Given the description of an element on the screen output the (x, y) to click on. 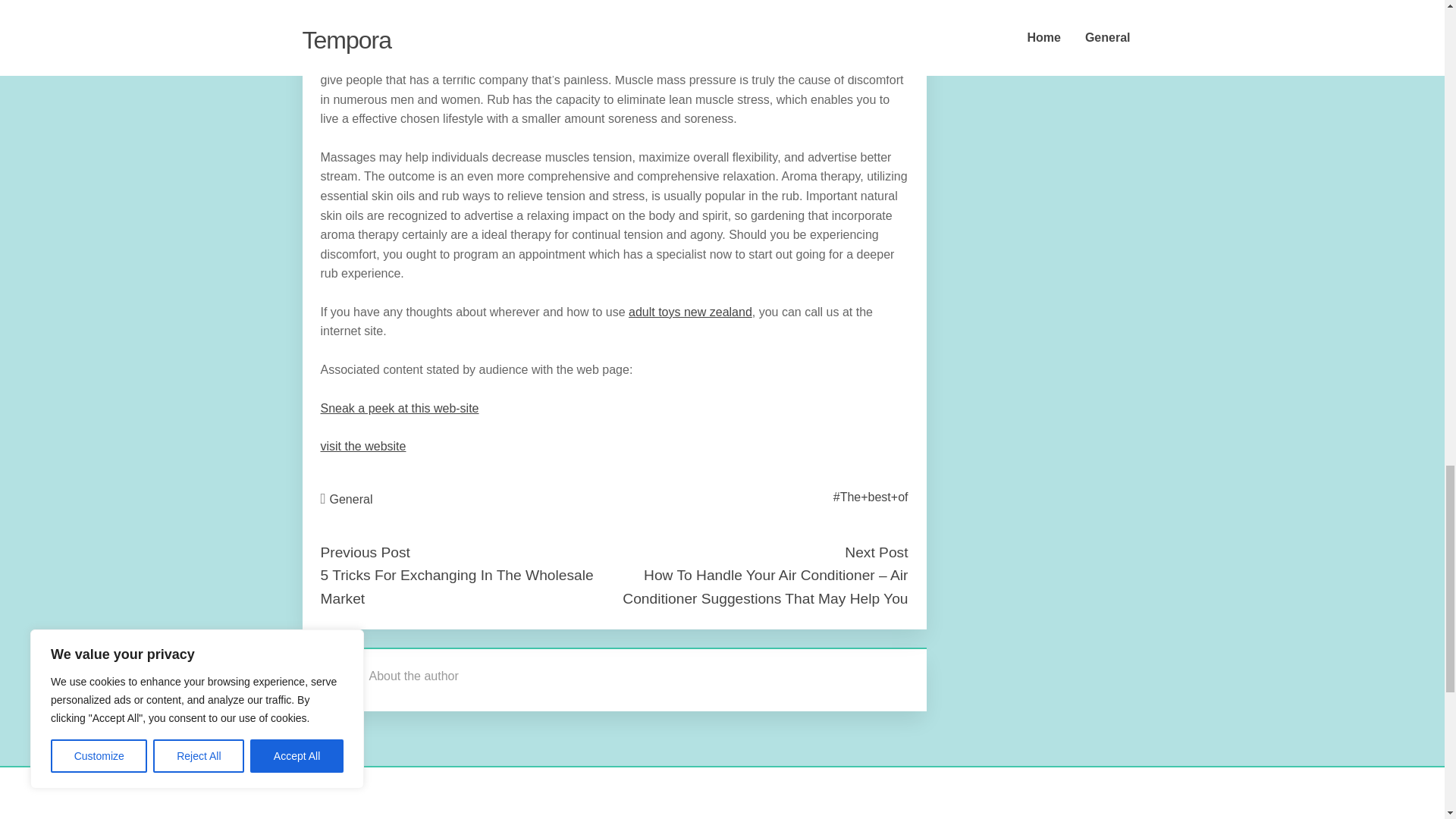
visit the website (363, 445)
Sneak a peek at this web-site (399, 408)
Previous Post (364, 552)
General (351, 499)
5 Tricks For Exchanging In The Wholesale Market (456, 586)
recognized organization (507, 4)
adult toys new zealand (690, 311)
Next Post (875, 552)
